Given the description of an element on the screen output the (x, y) to click on. 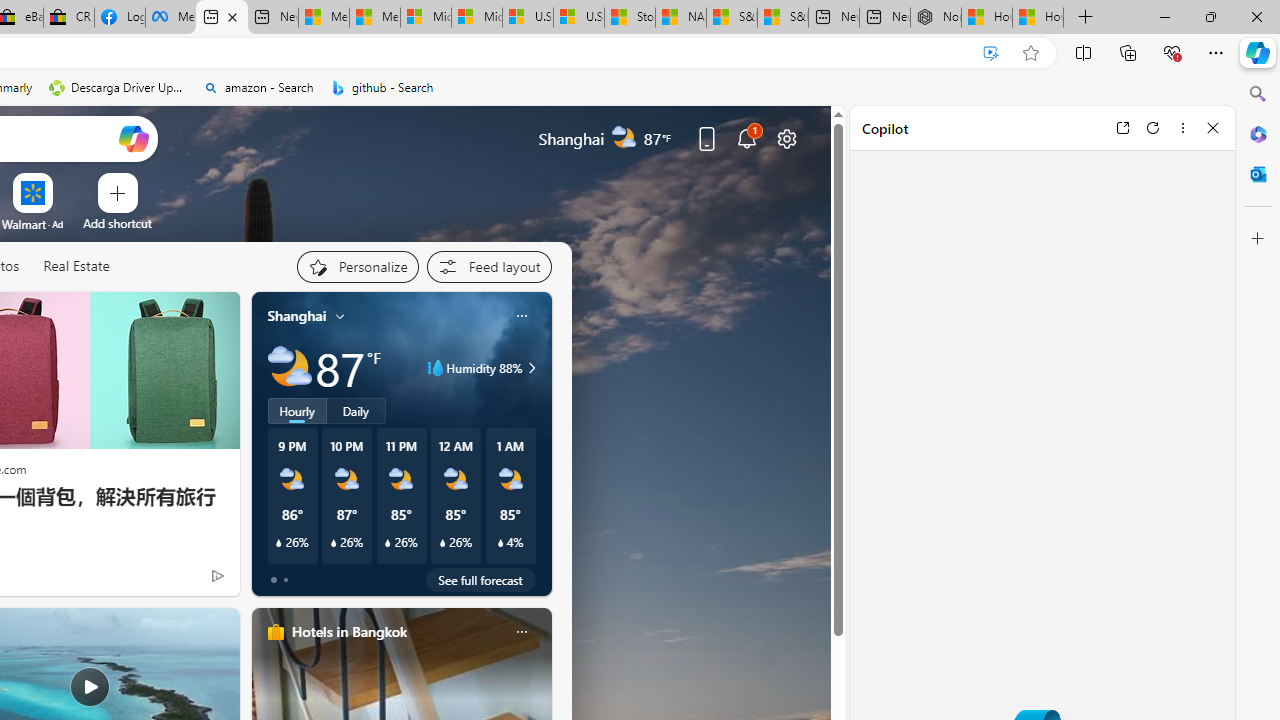
Real Estate (76, 265)
How to Use a Monitor With Your Closed Laptop (1037, 17)
Class: icon-img (521, 632)
Add a site (117, 223)
tab-1 (285, 579)
Personalize your feed" (356, 266)
Class: weather-arrow-glyph (531, 367)
